Given the description of an element on the screen output the (x, y) to click on. 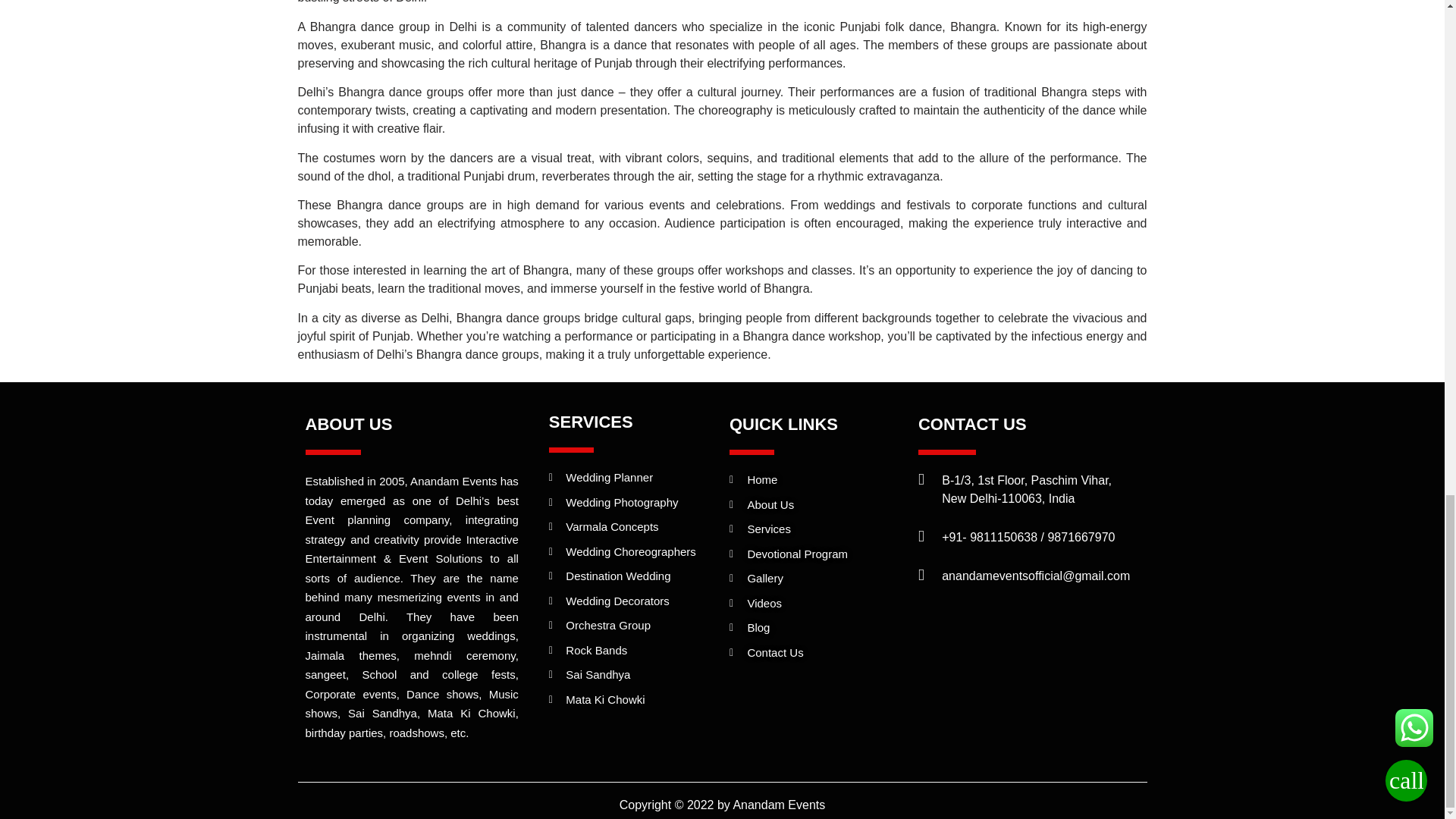
Sai Sandhya (635, 674)
Videos (815, 603)
About Us (815, 505)
Contact Us (815, 652)
Mata Ki Chowki (635, 700)
Orchestra Group (635, 625)
Wedding Choreographers (635, 552)
Home (815, 479)
Wedding Planner (635, 477)
Rock Bands (635, 651)
